Given the description of an element on the screen output the (x, y) to click on. 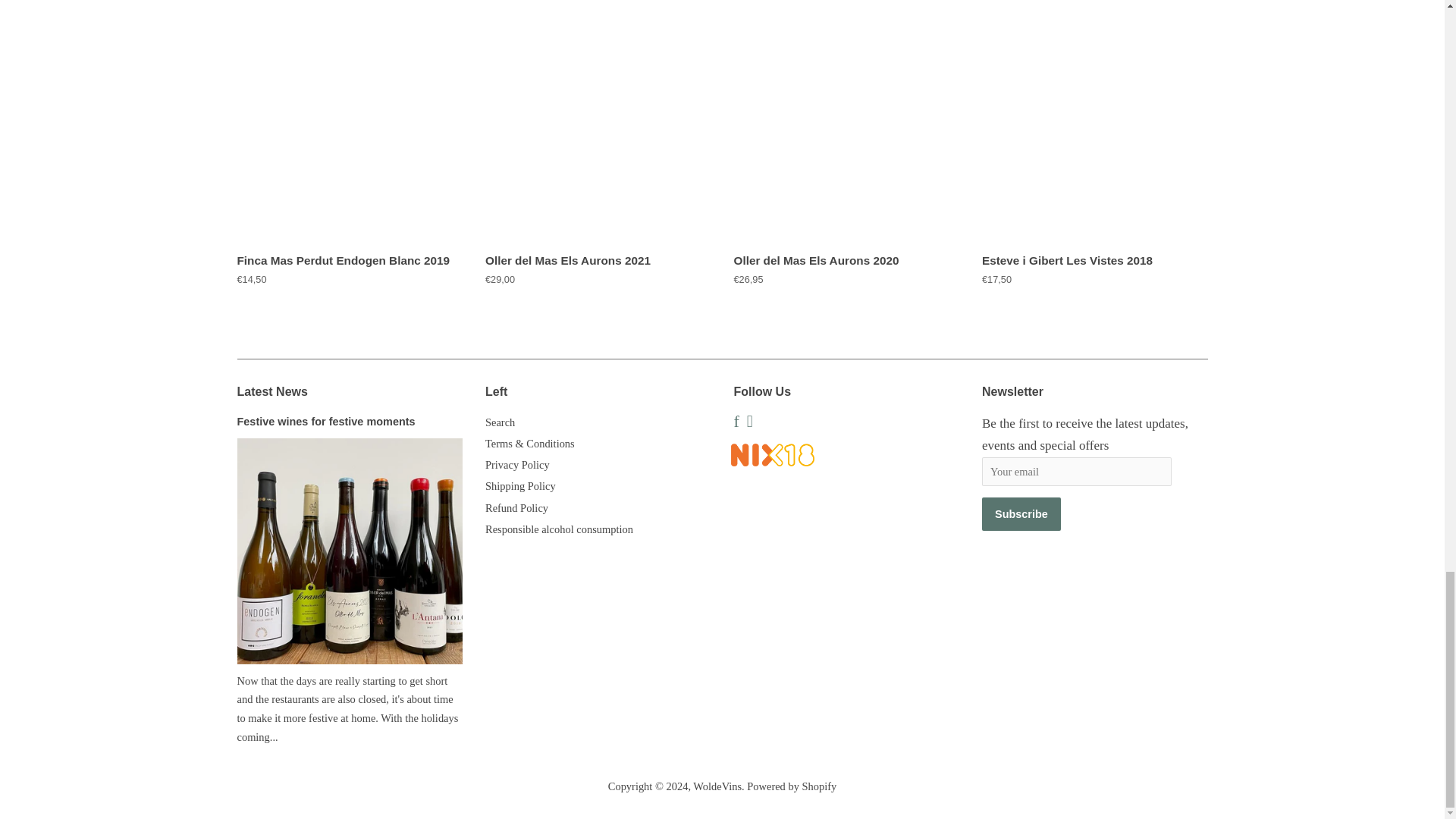
Responsible alcohol consumption (558, 529)
Latest News (271, 391)
Refund Policy (516, 508)
Subscribe (1021, 513)
Shipping Policy (520, 485)
Search (499, 422)
Festive wines for festive moments (324, 421)
Privacy Policy (517, 464)
